Given the description of an element on the screen output the (x, y) to click on. 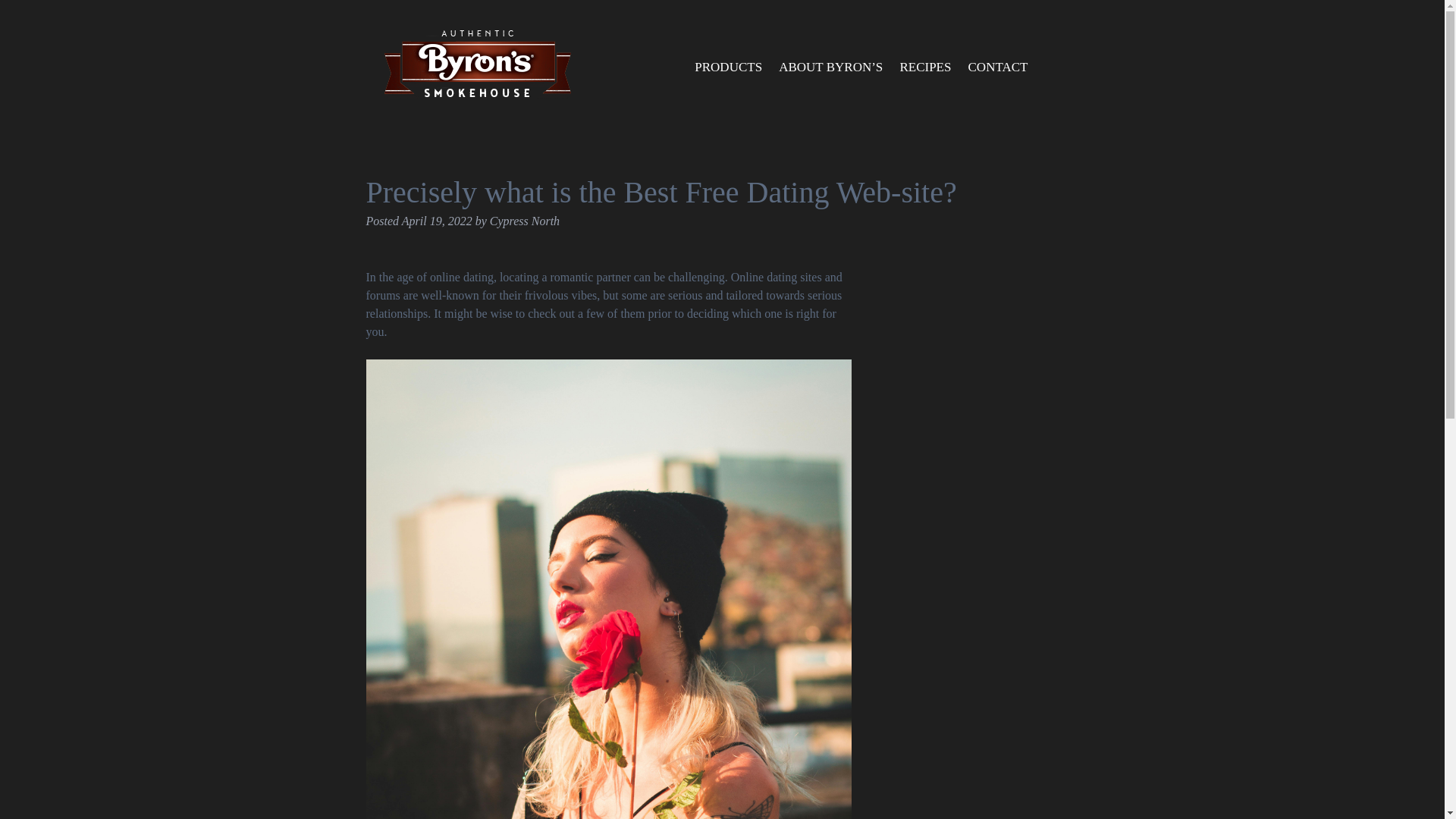
PRODUCTS (727, 67)
CONTACT (997, 67)
RECIPES (925, 67)
